Given the description of an element on the screen output the (x, y) to click on. 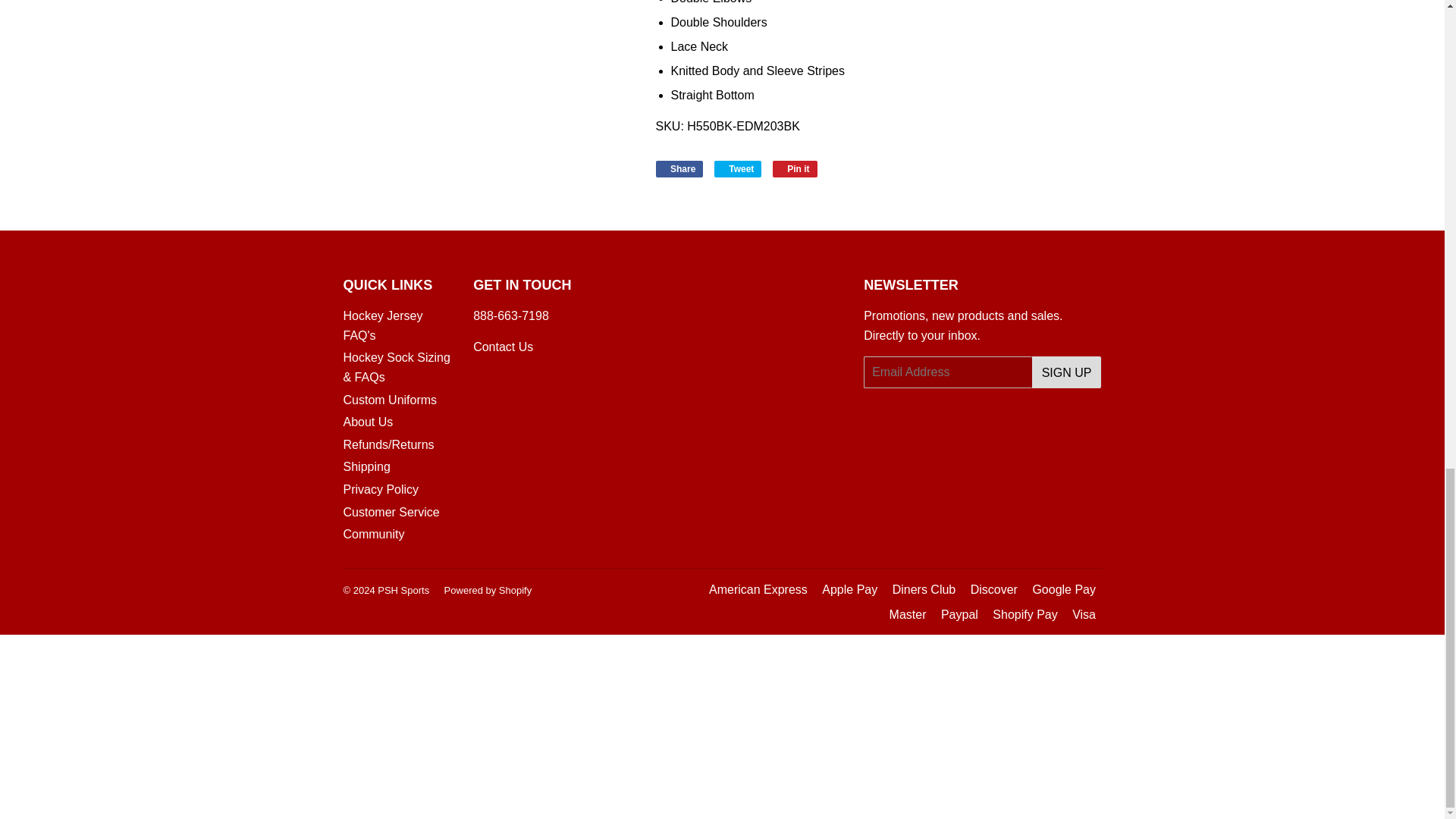
Contact Us (502, 346)
Share on Facebook (679, 168)
Contact Us (510, 315)
Tweet on Twitter (737, 168)
Pin on Pinterest (794, 168)
